Given the description of an element on the screen output the (x, y) to click on. 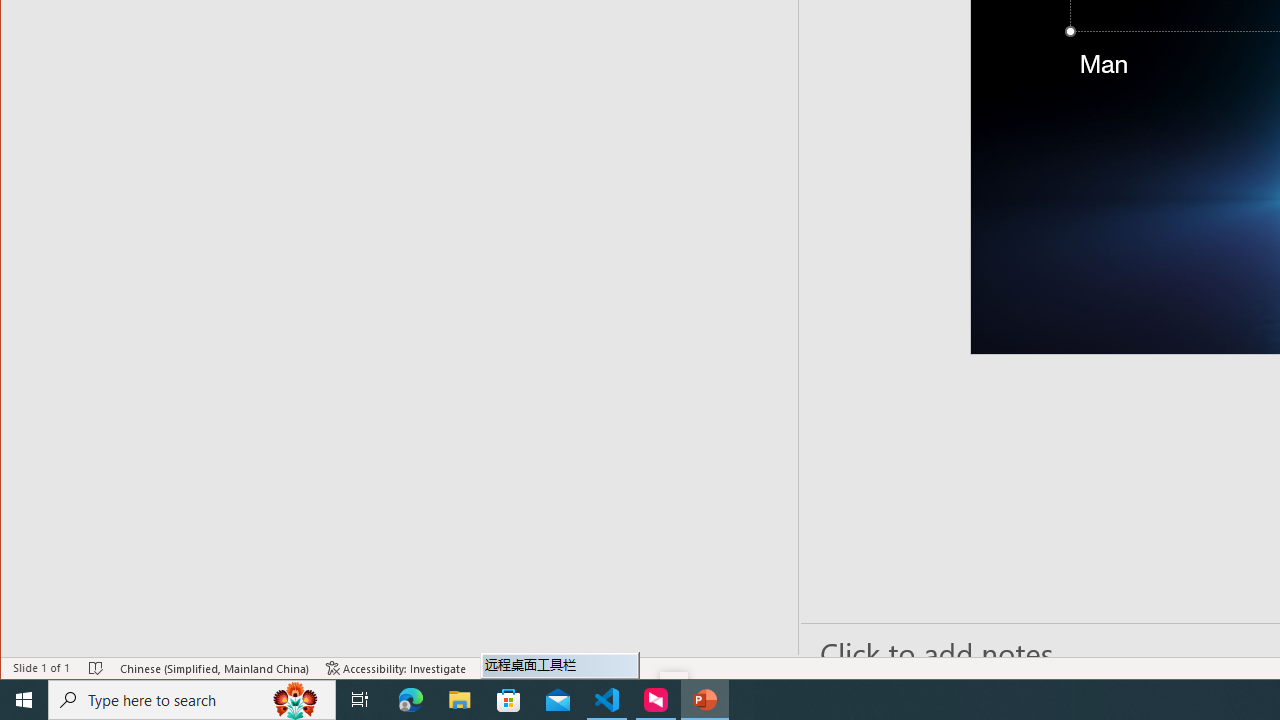
Microsoft Edge (411, 699)
PowerPoint - 1 running window (704, 699)
Type here to search (191, 699)
Task View (359, 699)
Visual Studio Code - 1 running window (607, 699)
Search highlights icon opens search home window (295, 699)
File Explorer (460, 699)
Start (24, 699)
Microsoft Store (509, 699)
